Given the description of an element on the screen output the (x, y) to click on. 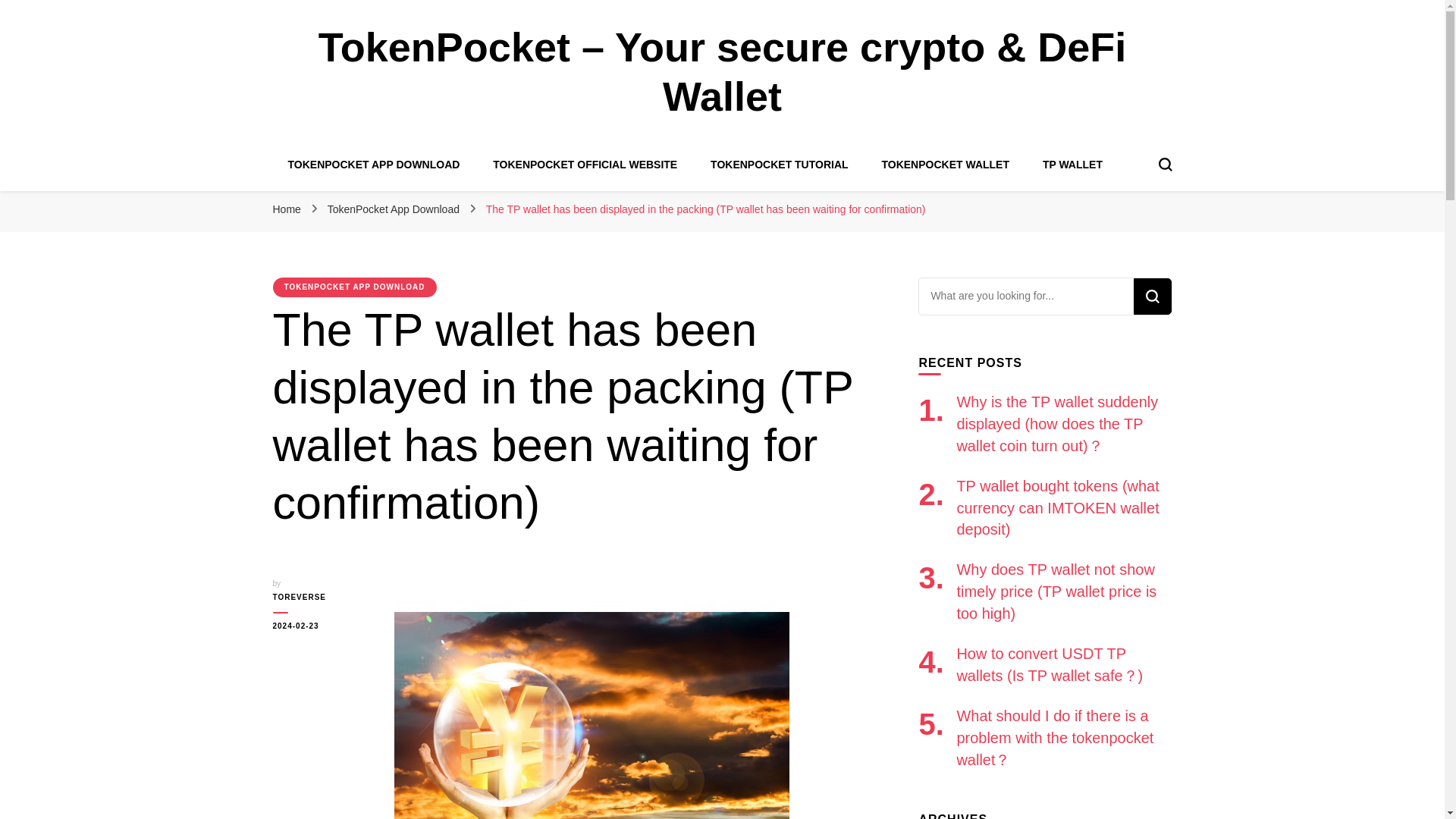
2024-02-23 (322, 626)
TOKENPOCKET APP DOWNLOAD (354, 287)
Home (287, 209)
TOKENPOCKET WALLET (944, 164)
TokenPocket App Download (395, 209)
TOKENPOCKET APP DOWNLOAD (374, 164)
TOREVERSE (322, 597)
TP WALLET (1072, 164)
Search (1151, 296)
Search (1151, 296)
TOKENPOCKET TUTORIAL (779, 164)
Search (1151, 296)
TOKENPOCKET OFFICIAL WEBSITE (585, 164)
